Given the description of an element on the screen output the (x, y) to click on. 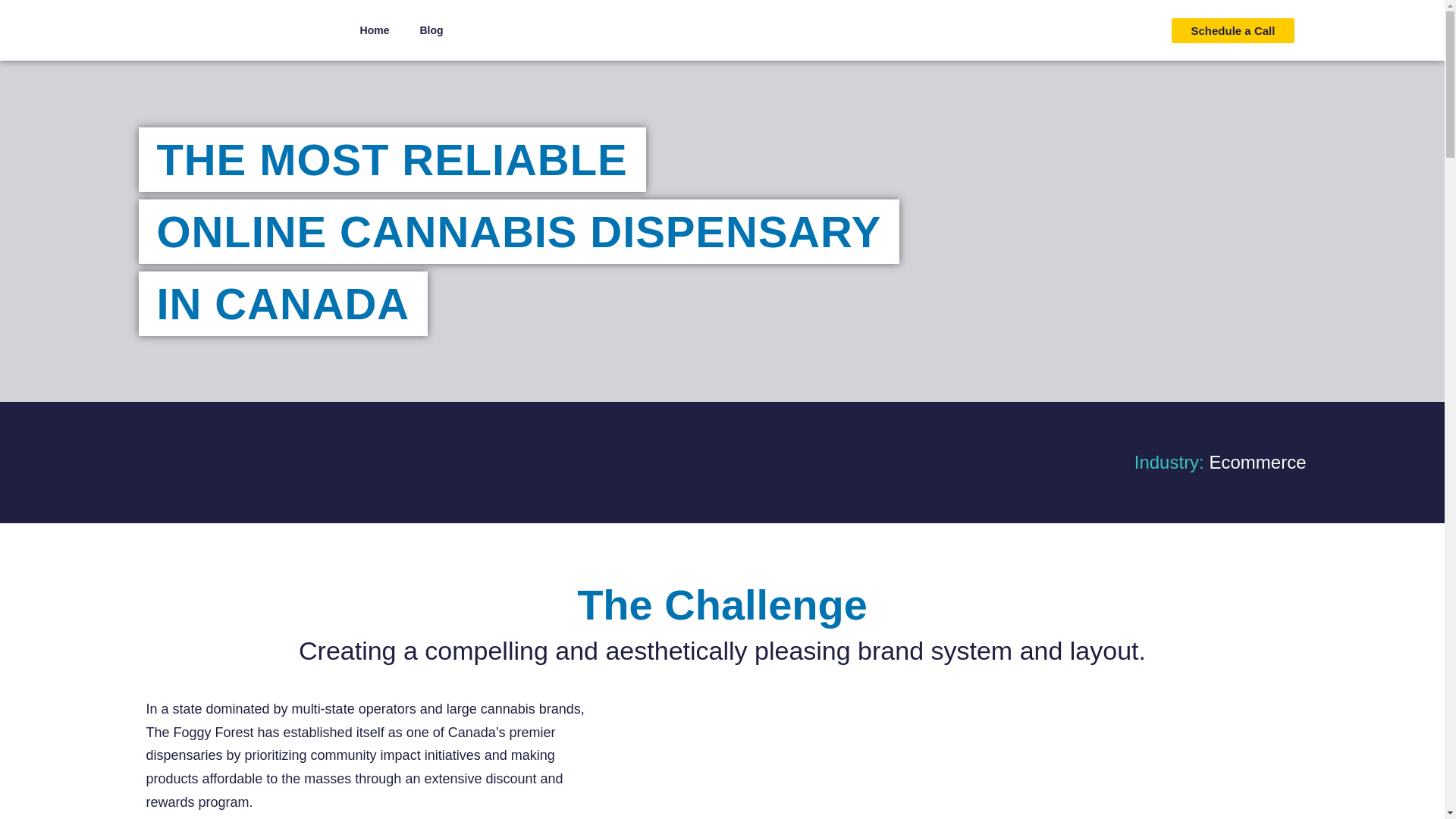
Schedule a Call (1233, 30)
Home (374, 30)
Blog (431, 30)
